Given the description of an element on the screen output the (x, y) to click on. 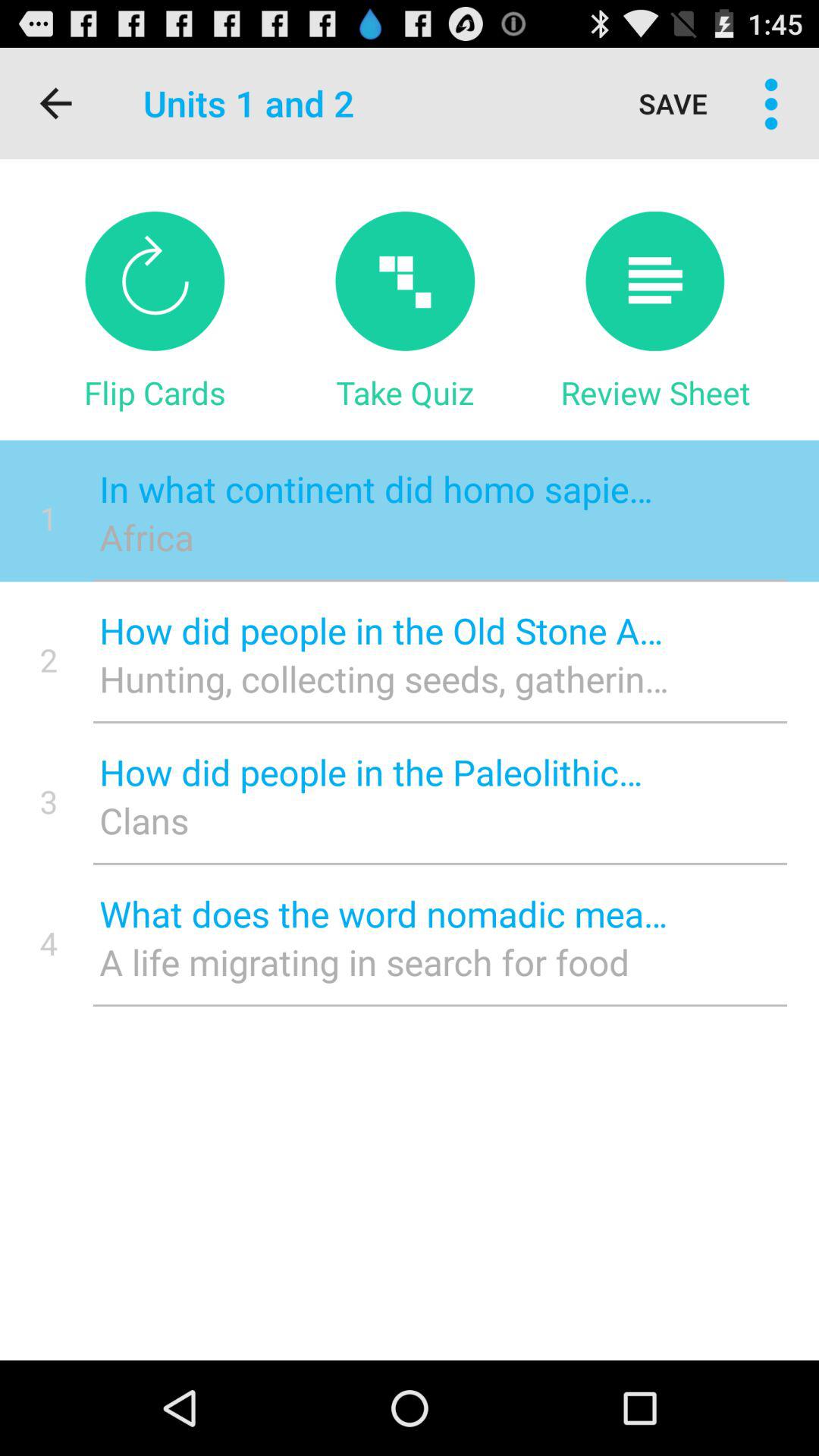
press the item above the in what continent (655, 392)
